Given the description of an element on the screen output the (x, y) to click on. 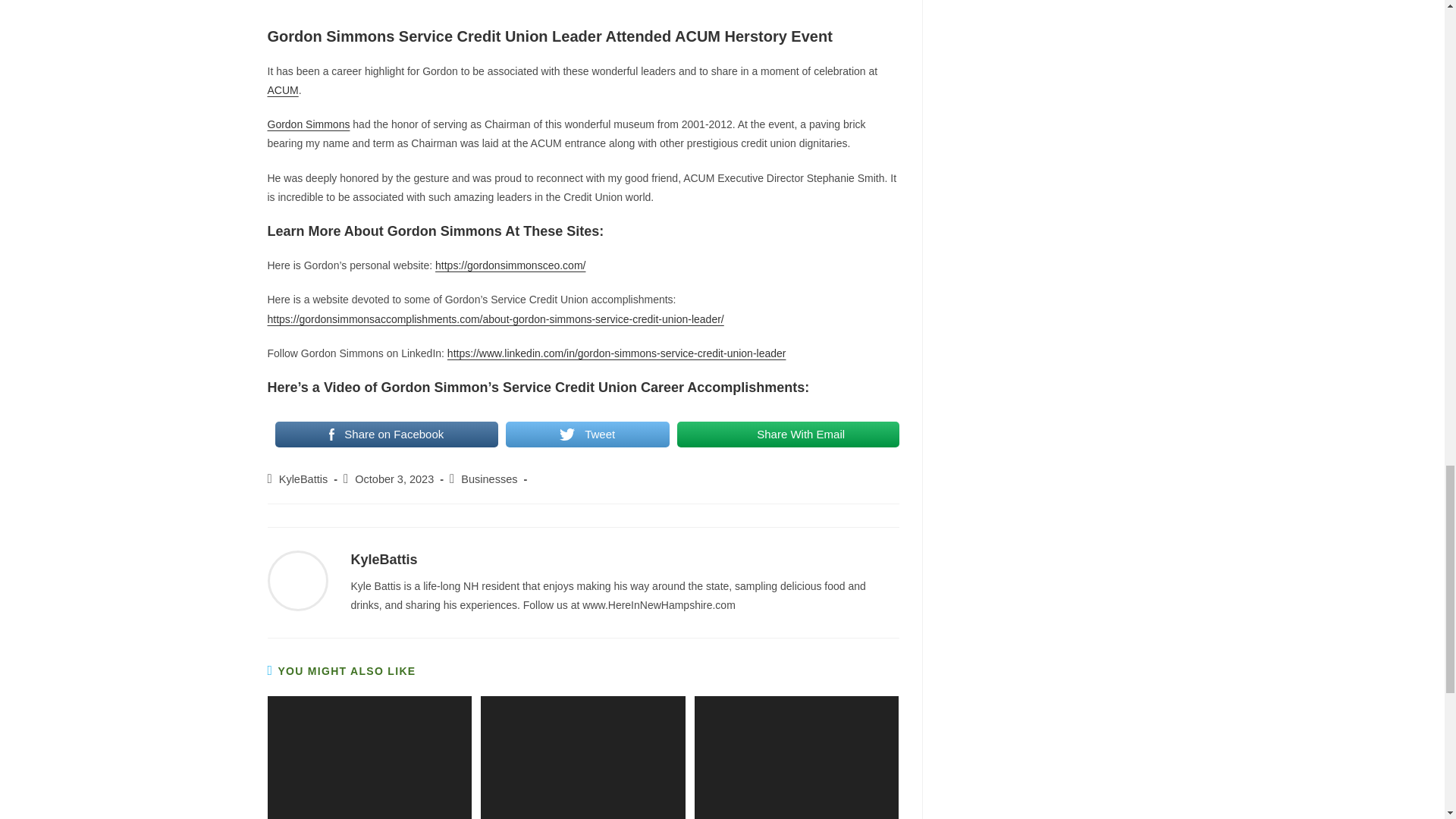
Visit Author Page (383, 559)
Visit Author Page (296, 580)
Posts by KyleBattis (303, 479)
